Given the description of an element on the screen output the (x, y) to click on. 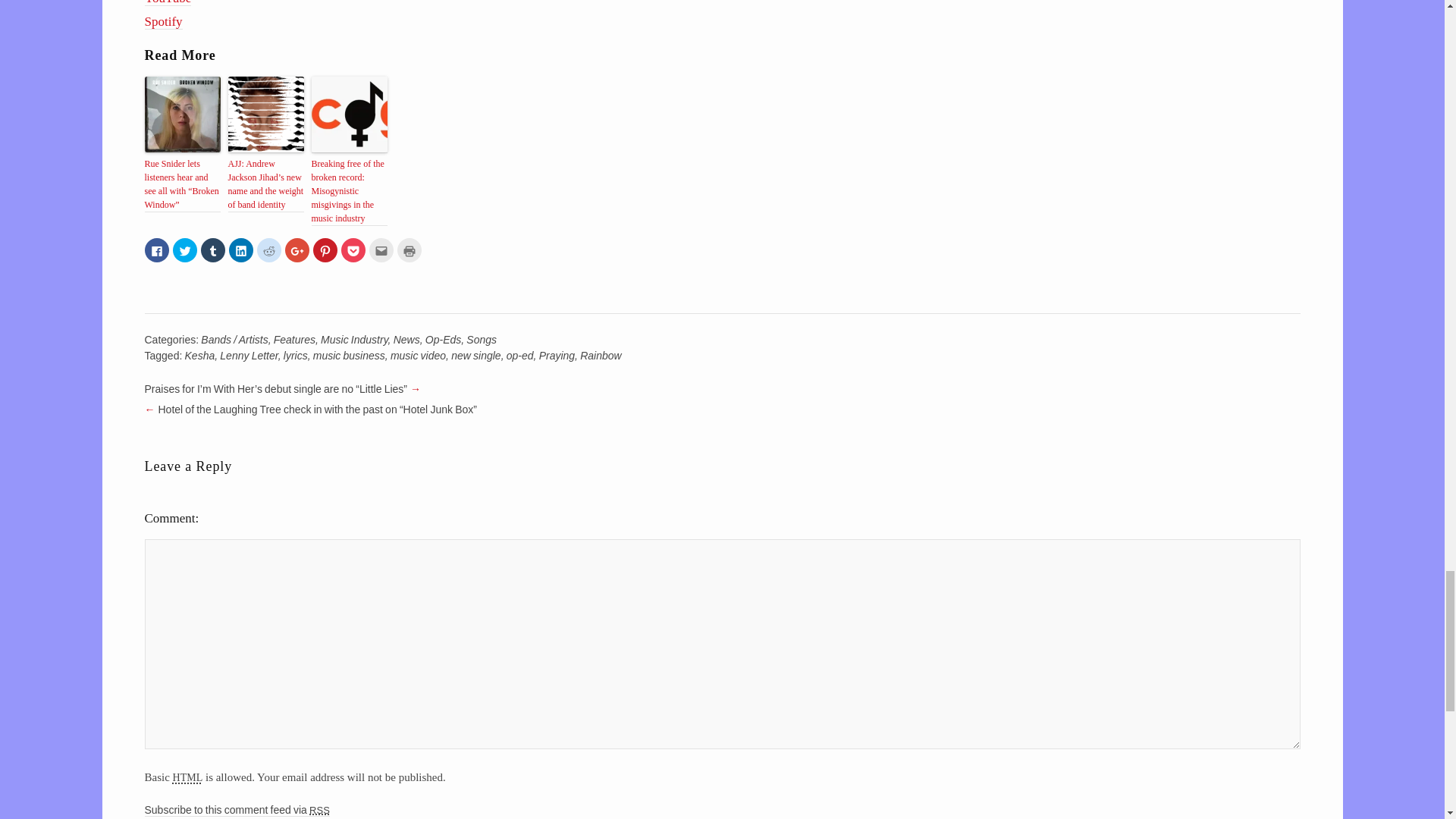
Read previous article (722, 409)
Click to email this to a friend (380, 250)
Click to share on Reddit (268, 250)
Click to share on Pocket (352, 250)
Hypertext Markup Language (188, 775)
Click to share on Pinterest (324, 250)
Click to share on Twitter (184, 250)
Click to share on LinkedIn (240, 250)
Click to share on Tumblr (212, 250)
Really Simple Syndication (319, 808)
Click to share on Facebook (156, 250)
Click to print (409, 250)
Read next article (722, 391)
